Given the description of an element on the screen output the (x, y) to click on. 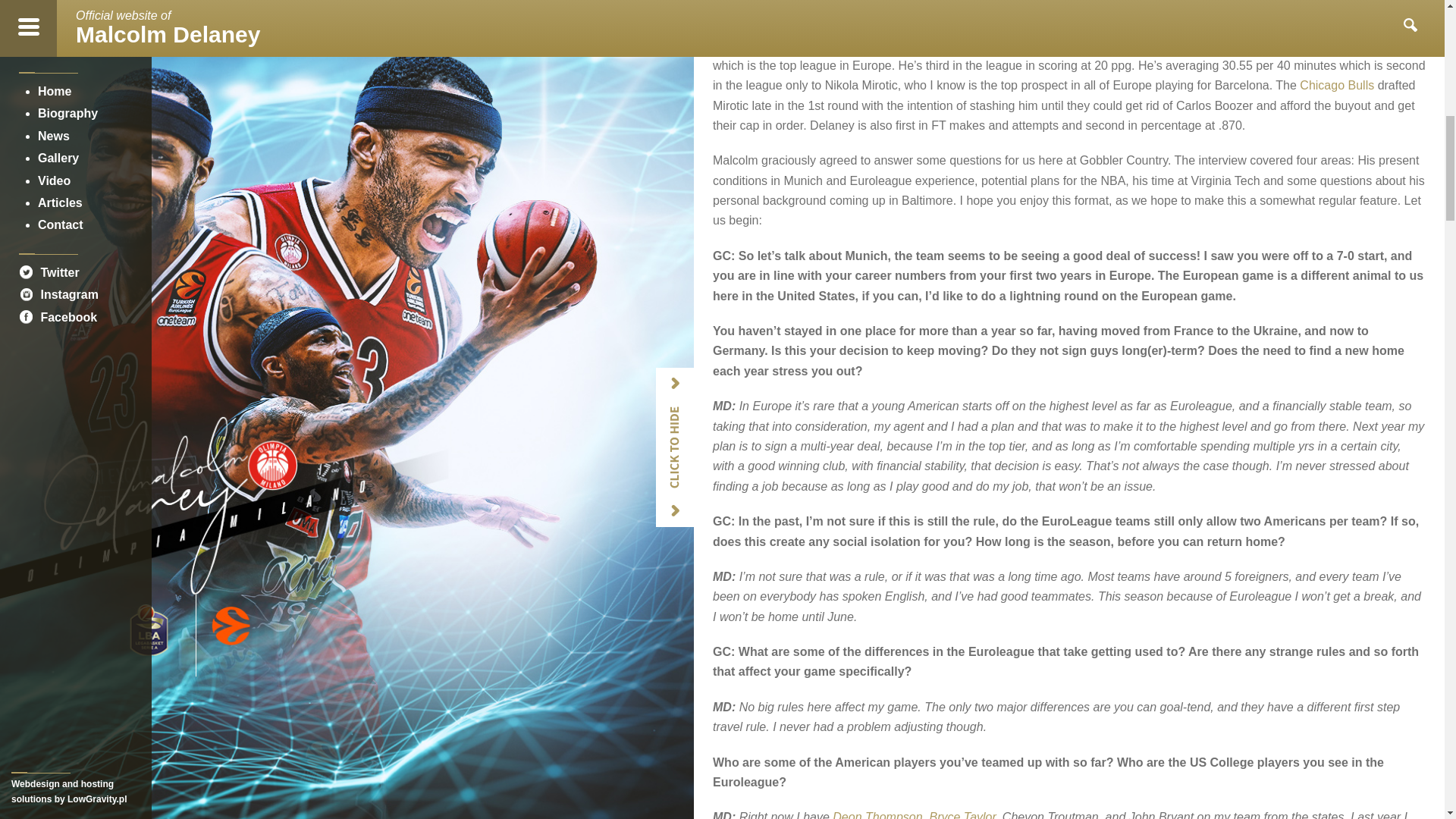
Bryce Taylor (961, 814)
All-Eurocup First Team (804, 12)
Deon Thompson (876, 814)
2013 (885, 12)
Chicago Bulls (1337, 84)
Eurocup Basketball Awards (804, 12)
